Given the description of an element on the screen output the (x, y) to click on. 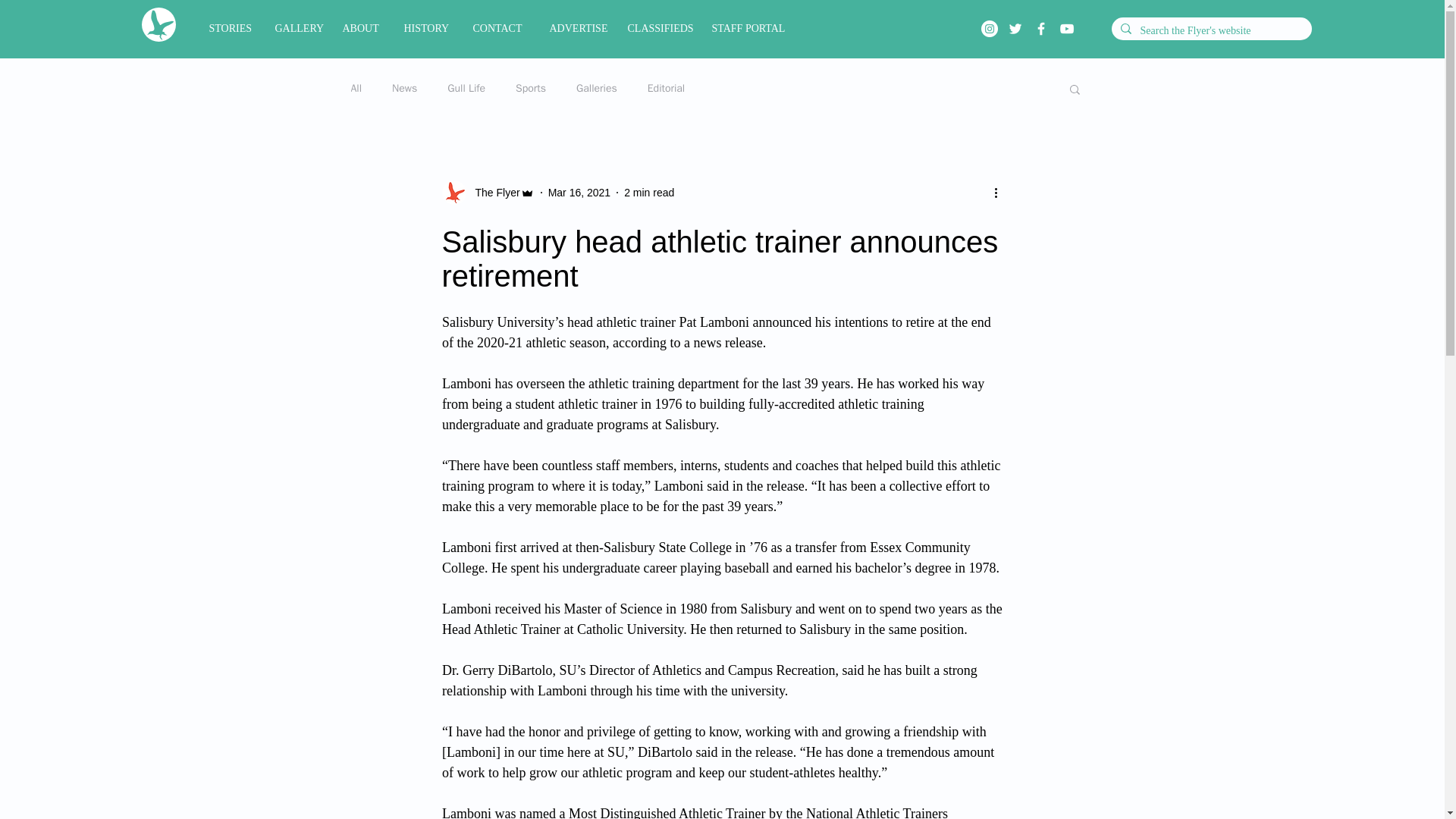
ABOUT (360, 29)
HISTORY (427, 29)
News (403, 88)
STORIES (229, 29)
STAFF PORTAL (749, 29)
CONTACT (499, 29)
Editorial (665, 88)
CLASSIFIEDS (657, 29)
Sports (530, 88)
ADVERTISE (576, 29)
The Flyer (492, 192)
The Flyer (487, 192)
Mar 16, 2021 (579, 192)
2 min read (649, 192)
GALLERY (297, 29)
